Given the description of an element on the screen output the (x, y) to click on. 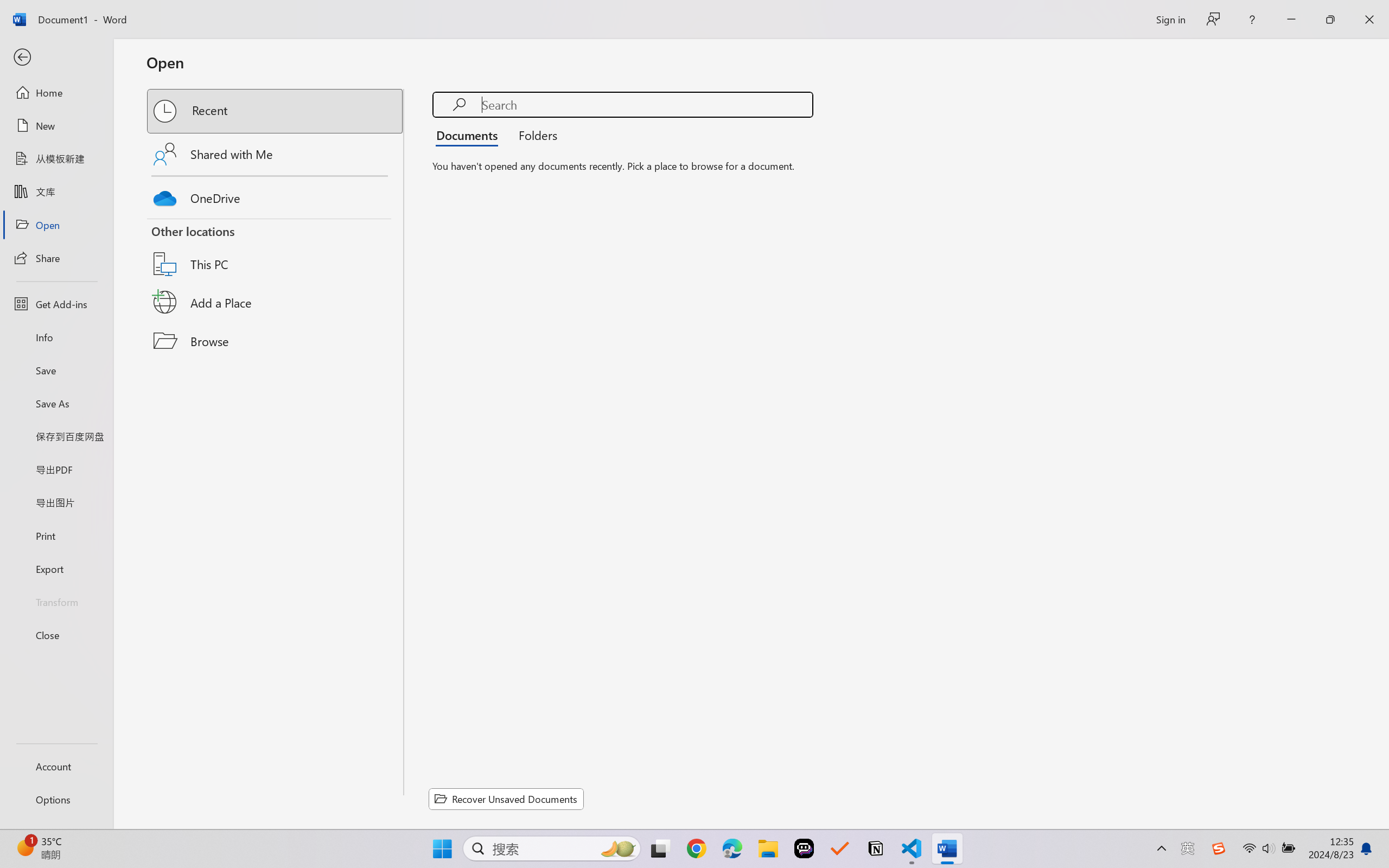
Recent (275, 110)
Shared with Me (275, 153)
Documents (469, 134)
Account (56, 765)
Back (56, 57)
